Given the description of an element on the screen output the (x, y) to click on. 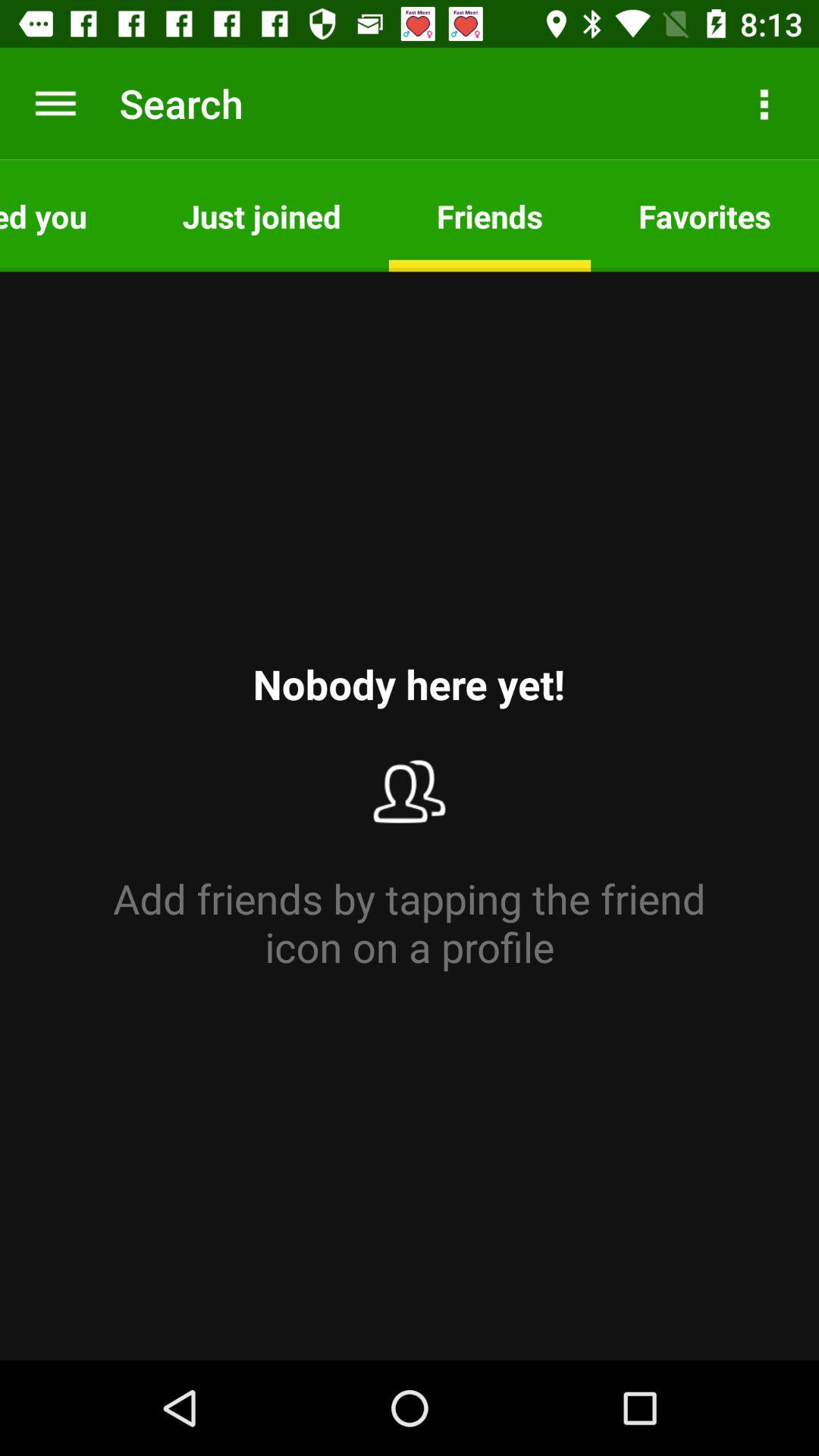
press the item next to search item (55, 103)
